Given the description of an element on the screen output the (x, y) to click on. 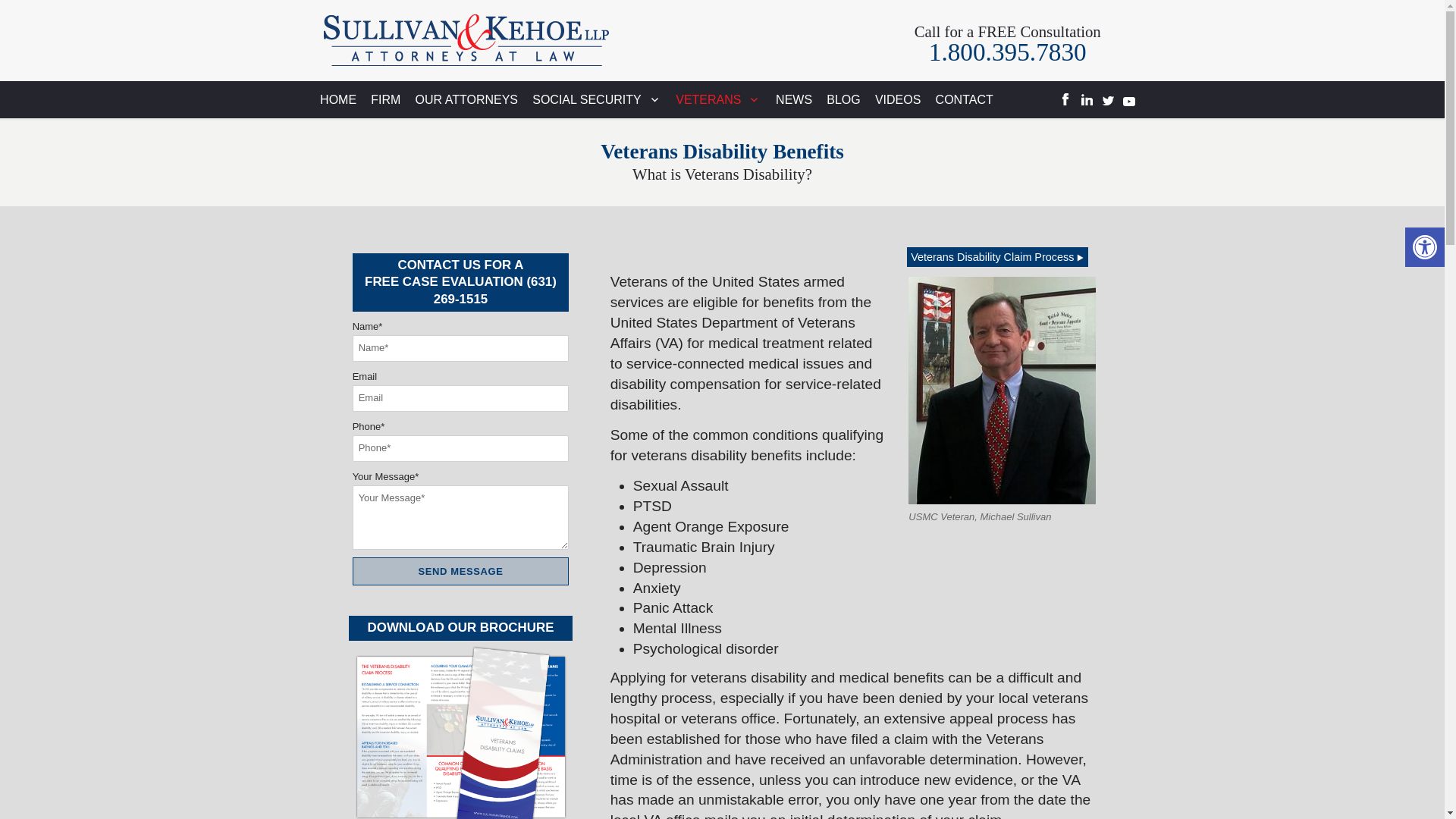
SOCIAL SECURITY (596, 98)
YouTube (1128, 99)
1.800.395.7830 (1007, 51)
Accessibility Tools (1424, 247)
VETERANS (718, 98)
OUR ATTORNEYS (466, 98)
Send Message (460, 571)
VIDEOS (897, 98)
HOME (337, 98)
NEWS (793, 98)
Facebook (1064, 99)
CONTACT (964, 98)
LinkedIn (1085, 99)
Veterans Disability Claim Process (997, 256)
FIRM (385, 98)
